Given the description of an element on the screen output the (x, y) to click on. 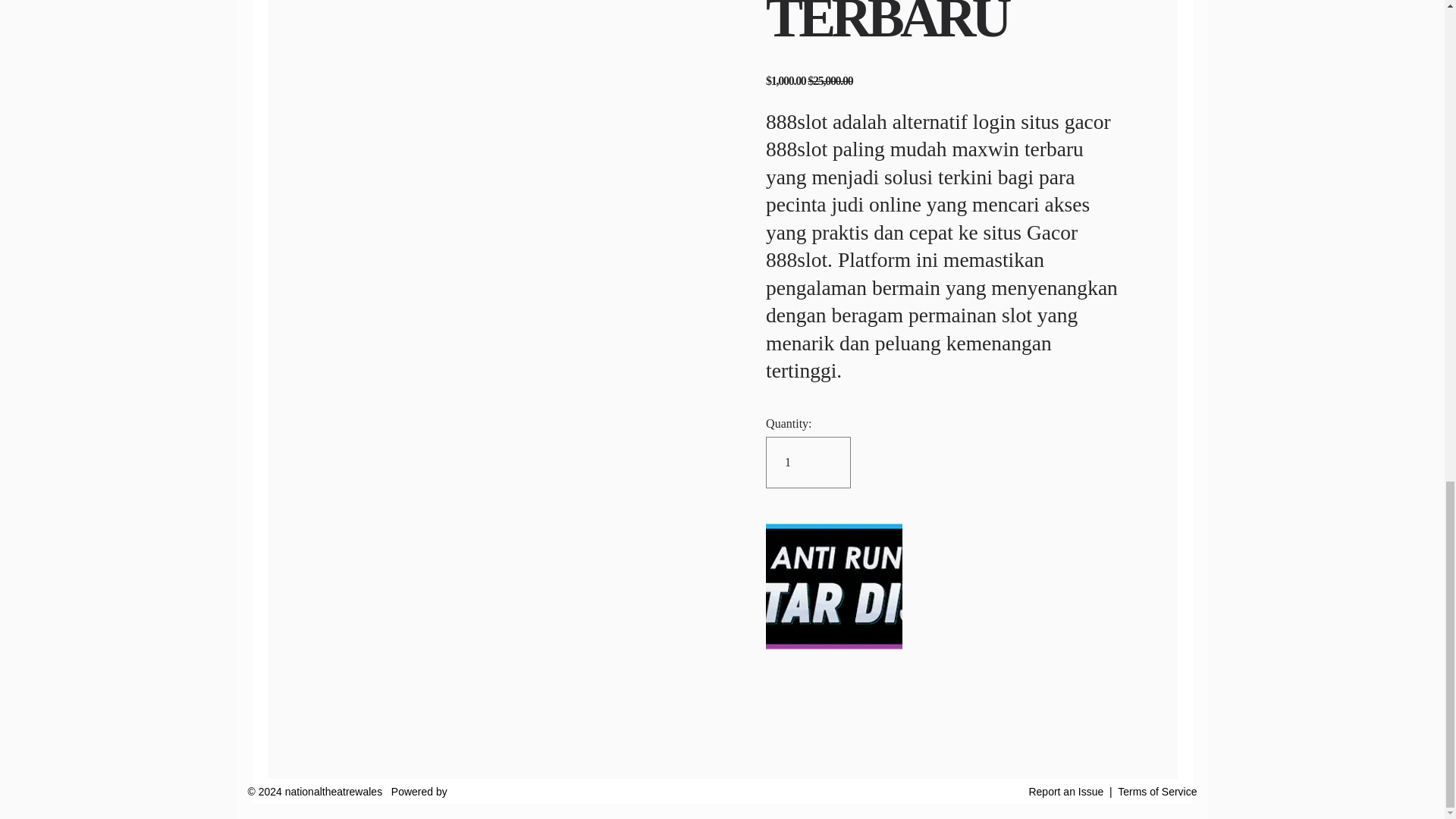
Terms of Service (1157, 791)
Report an Issue (1065, 791)
1 (807, 462)
